Given the description of an element on the screen output the (x, y) to click on. 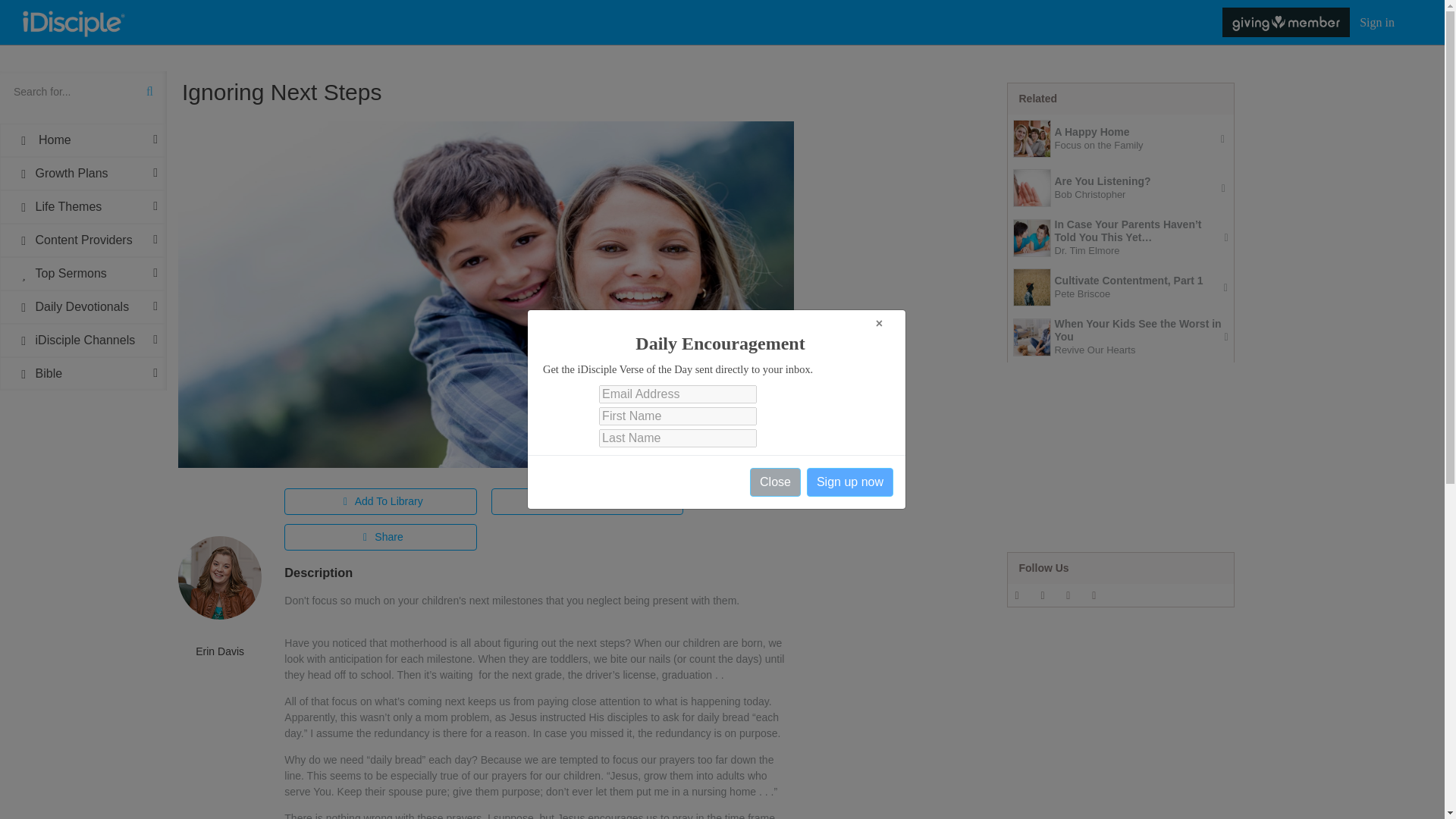
Content Providers (82, 240)
Top Sermons (82, 273)
Growth Plans (82, 173)
Daily Devotionals (82, 306)
Favorite (588, 501)
iDisciple Channels (82, 340)
Erin Davis (219, 651)
Home (82, 140)
Sign in (1377, 21)
Bible (82, 373)
Life Themes (82, 206)
Share (380, 537)
Add To Library (380, 501)
